Given the description of an element on the screen output the (x, y) to click on. 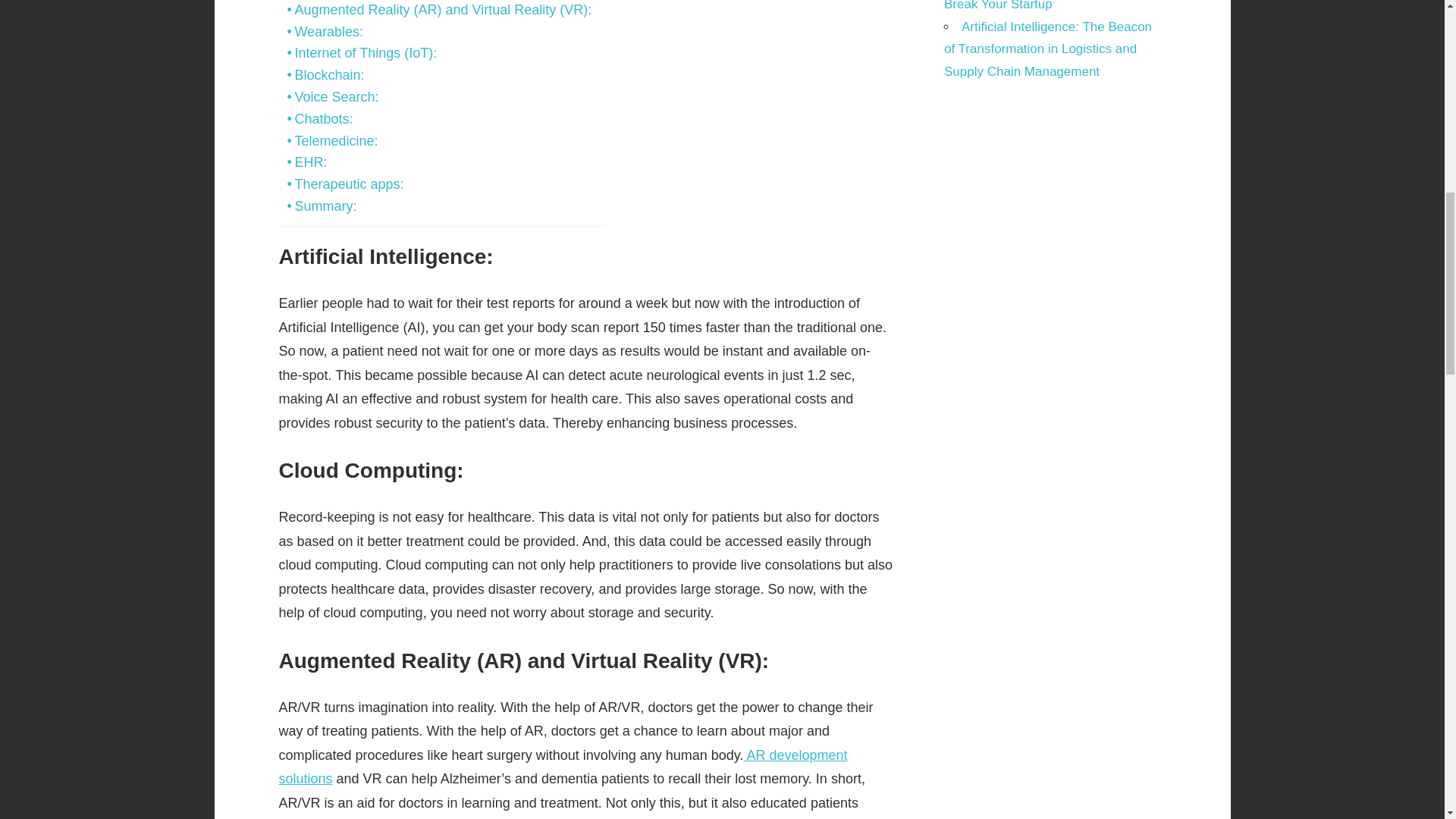
Wearables: (324, 32)
Wearables: (324, 32)
Chatbots: (319, 119)
Telemedicine: (331, 141)
Voice Search: (332, 97)
Blockchain: (325, 75)
Summary: (321, 206)
Chatbots: (319, 119)
Voice Search: (332, 97)
EHR: (306, 162)
Therapeutic apps: (344, 184)
Therapeutic apps: (344, 184)
EHR: (306, 162)
AR development solutions (563, 767)
Telemedicine: (331, 141)
